Given the description of an element on the screen output the (x, y) to click on. 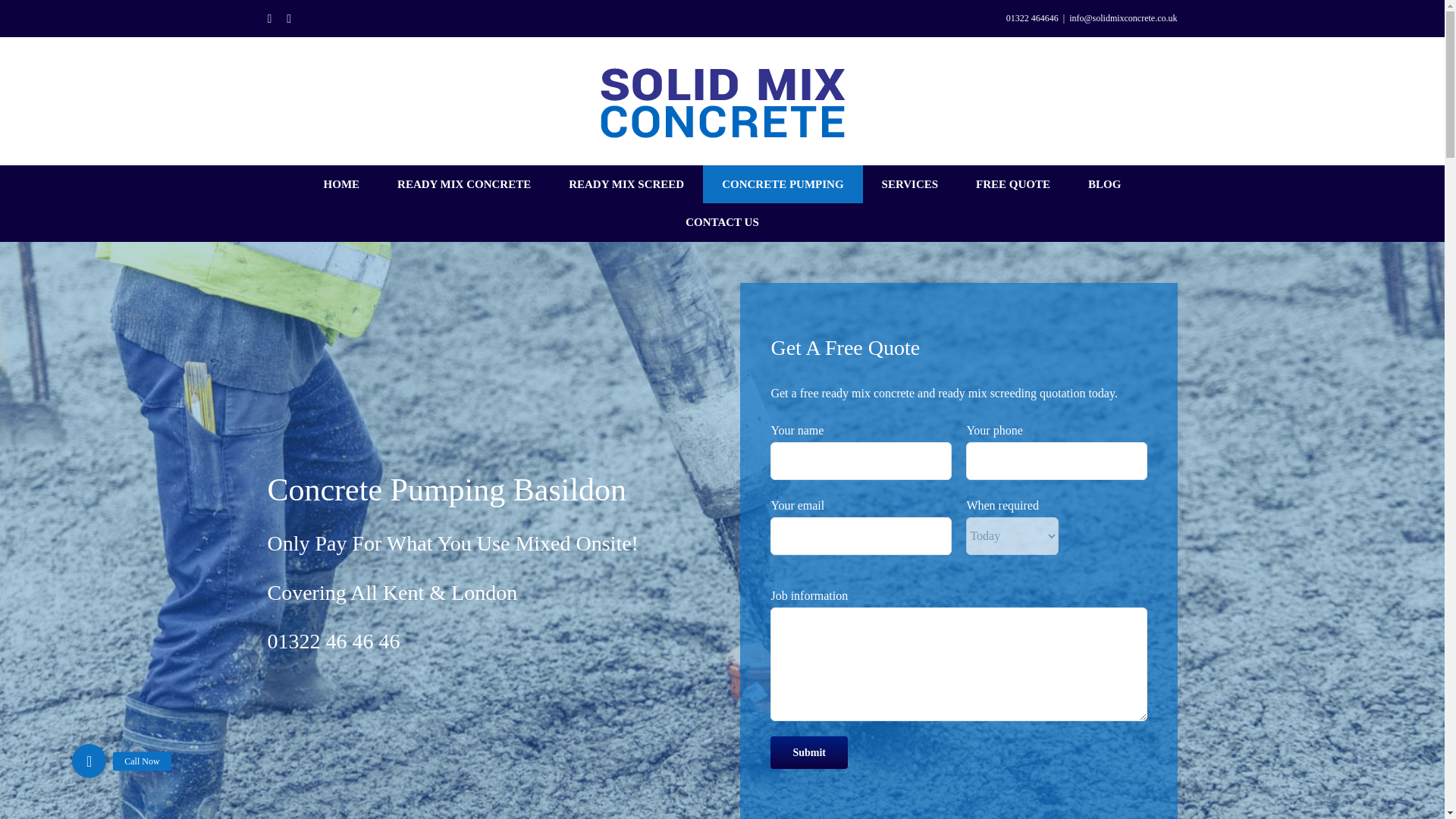
HOME (341, 184)
READY MIX CONCRETE (464, 184)
BLOG (1104, 184)
CONCRETE PUMPING (782, 184)
Submit (808, 752)
READY MIX SCREED (626, 184)
Submit (808, 752)
SERVICES (910, 184)
FREE QUOTE (1012, 184)
CONTACT US (721, 221)
